Given the description of an element on the screen output the (x, y) to click on. 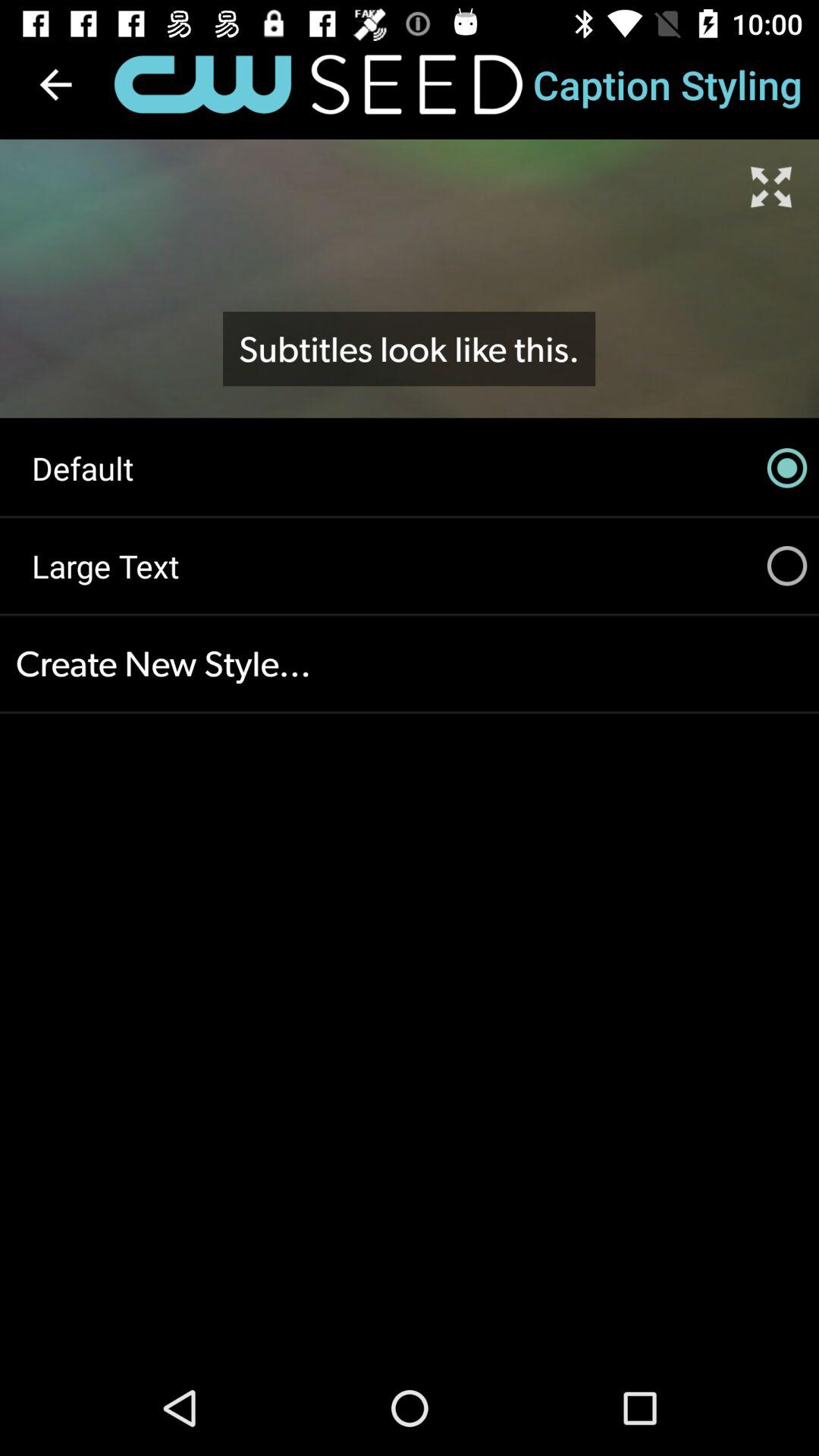
turn off default icon (409, 467)
